Given the description of an element on the screen output the (x, y) to click on. 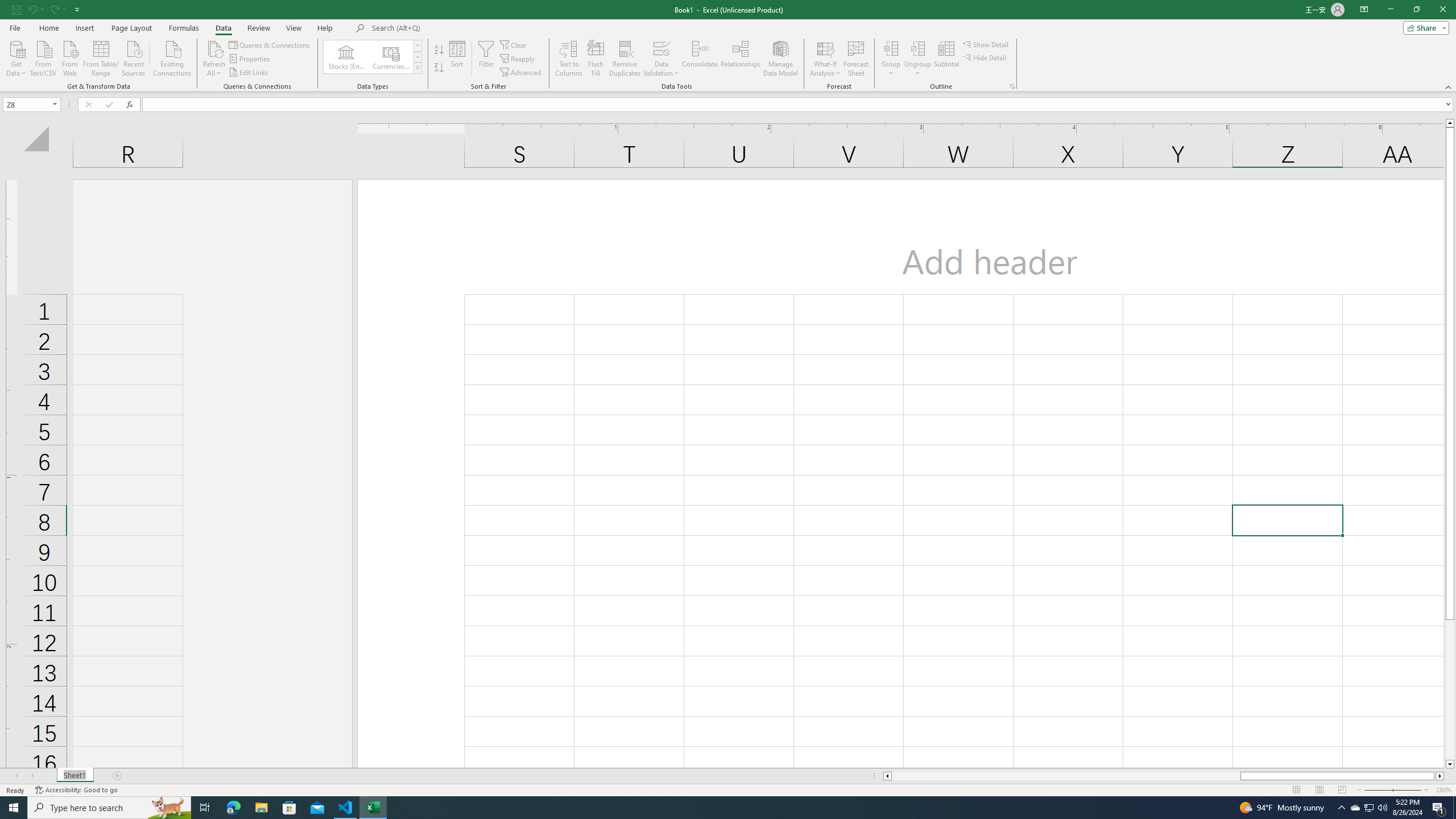
Home (48, 28)
Customize Quick Access Toolbar (77, 9)
Advanced... (520, 72)
Scroll Right (32, 775)
Text to Columns... (568, 58)
Page left (1065, 775)
Class: NetUIScrollBar (1163, 775)
View (293, 28)
Add Sheet (117, 775)
Data Types (417, 67)
Refresh All (214, 48)
